Given the description of an element on the screen output the (x, y) to click on. 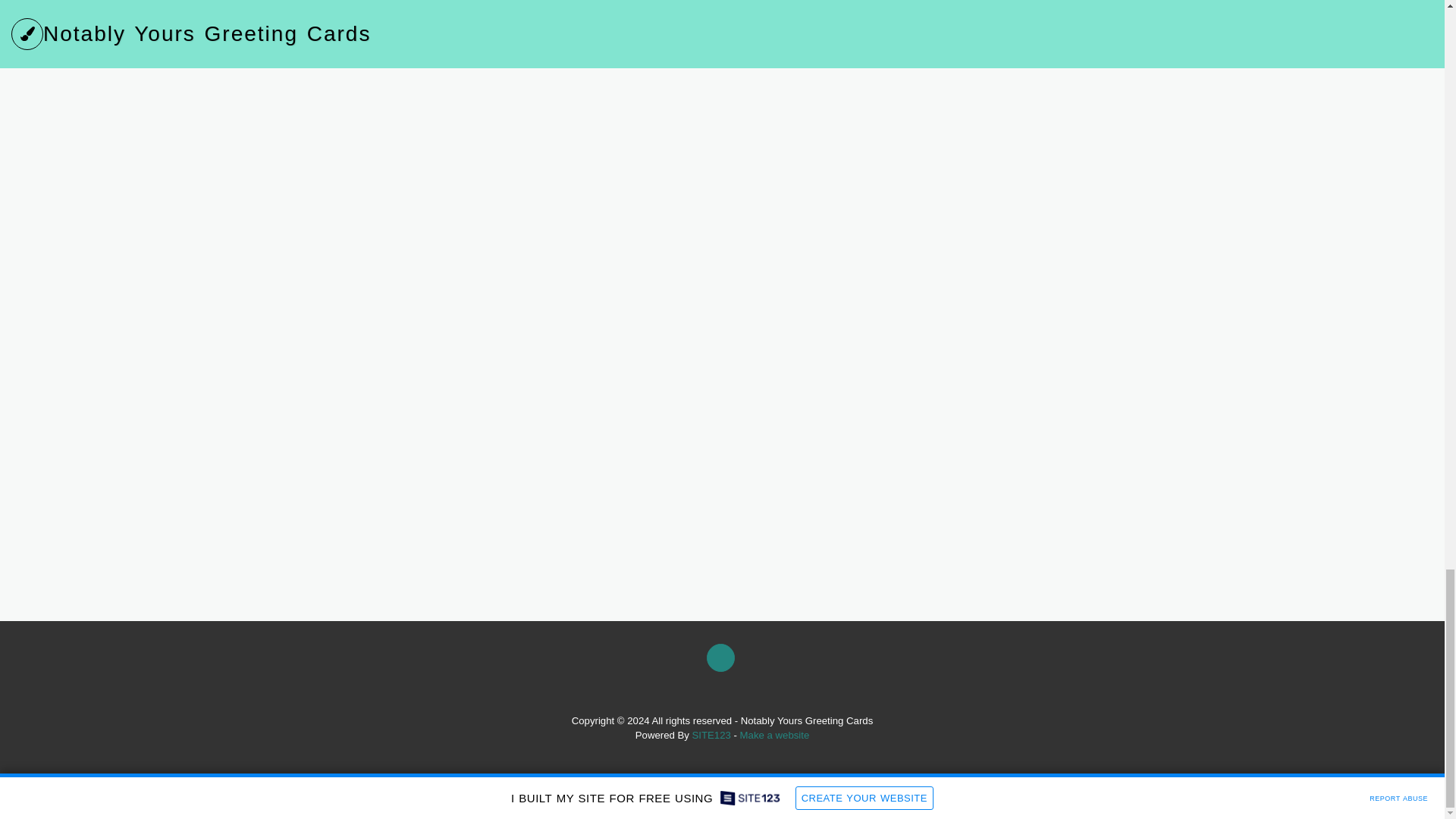
Make a website (774, 735)
SITE123 (711, 735)
